Given the description of an element on the screen output the (x, y) to click on. 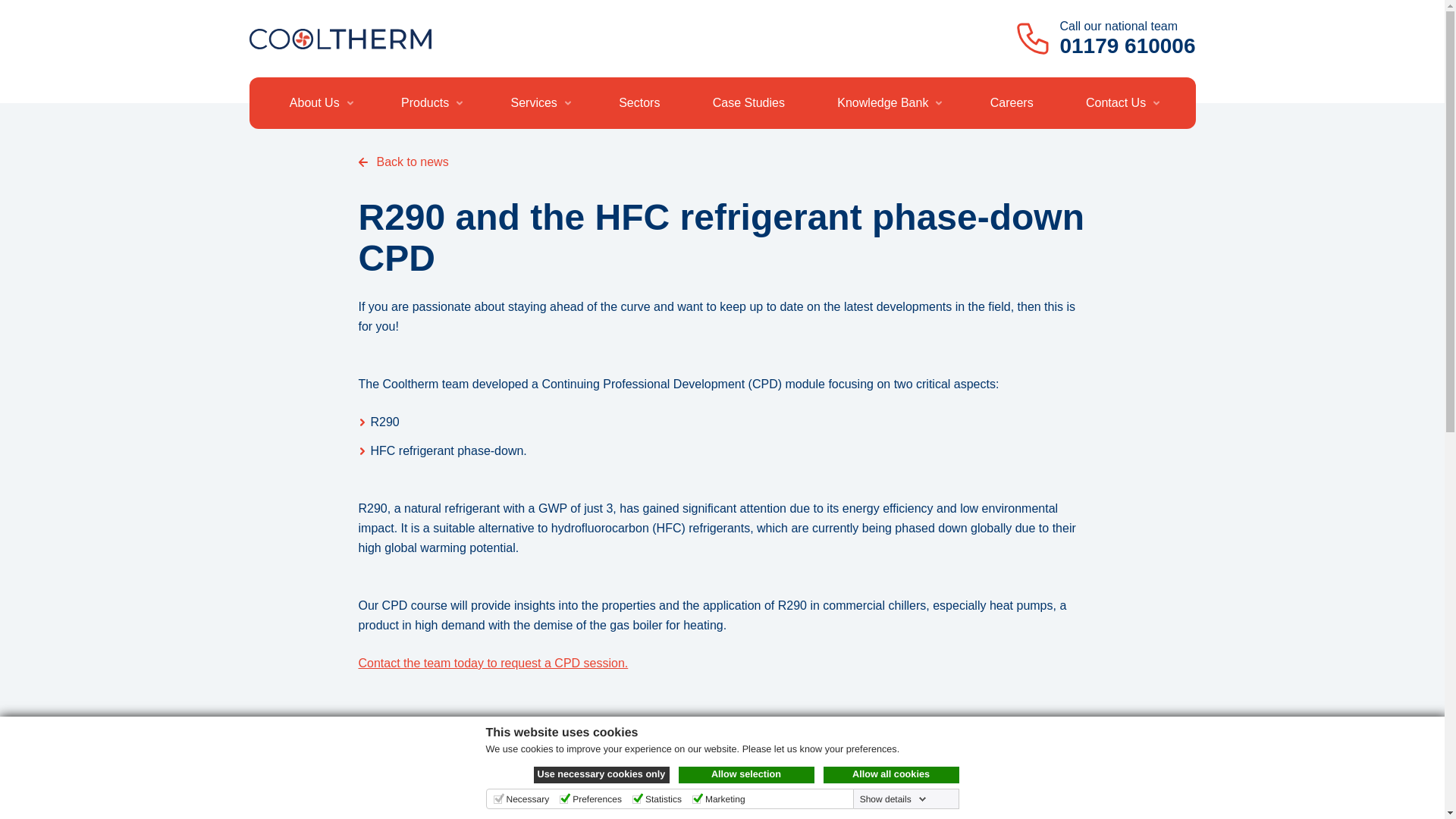
Show details (893, 799)
Use necessary cookies only (601, 774)
Allow selection (745, 774)
Allow all cookies (891, 774)
